Given the description of an element on the screen output the (x, y) to click on. 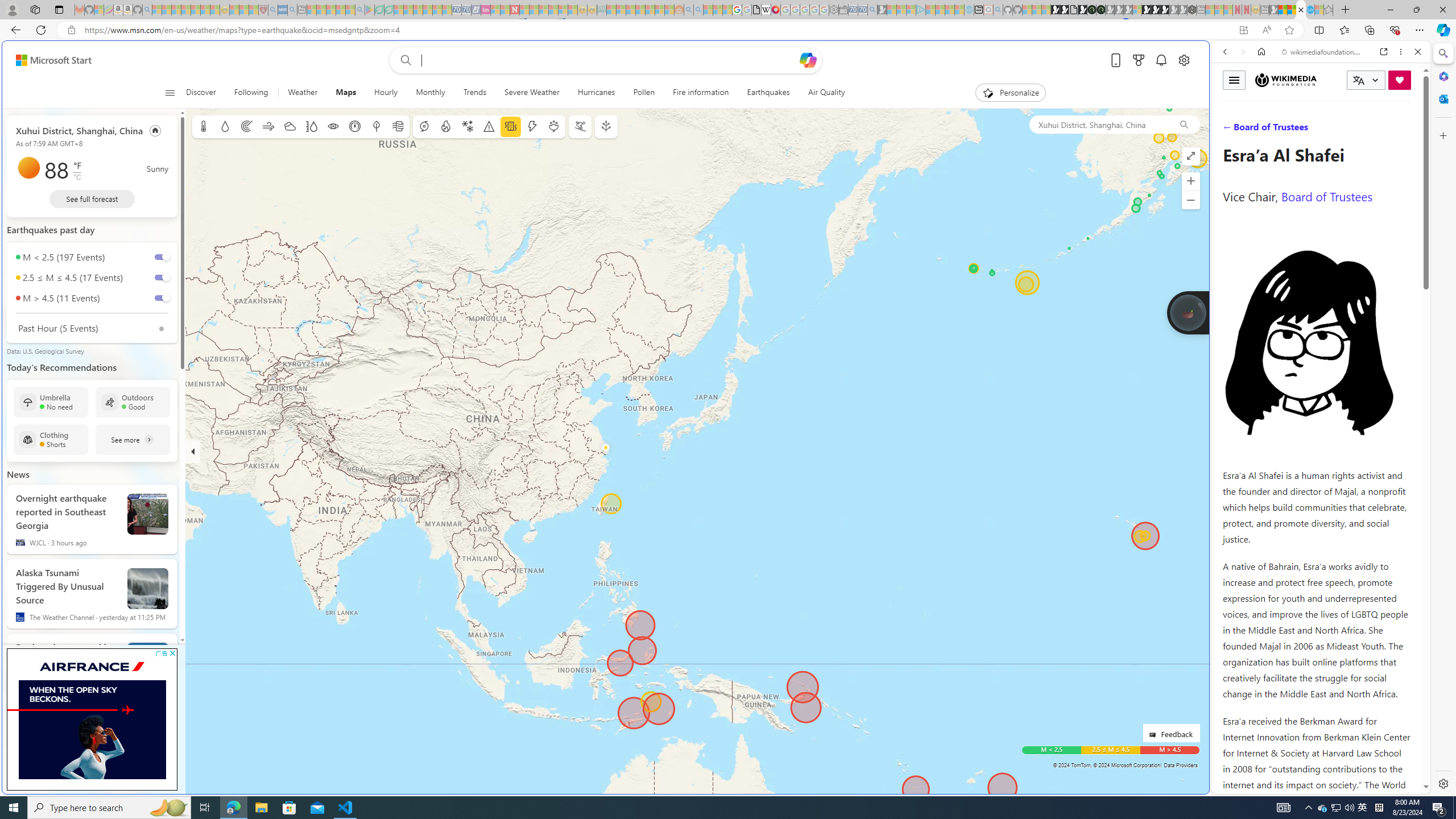
App bar (728, 29)
Class: i icon icon-translate language-switcher__icon (1358, 80)
Hurricanes (595, 92)
Cheap Car Rentals - Save70.com - Sleeping (862, 9)
Ski conditions (579, 126)
Following (250, 92)
google_privacy_policy_zh-CN.pdf (1118, 683)
SEARCH TOOLS (1350, 130)
Hourly (385, 92)
Tabs you've opened (885, 151)
Air Quality (820, 92)
